Given the description of an element on the screen output the (x, y) to click on. 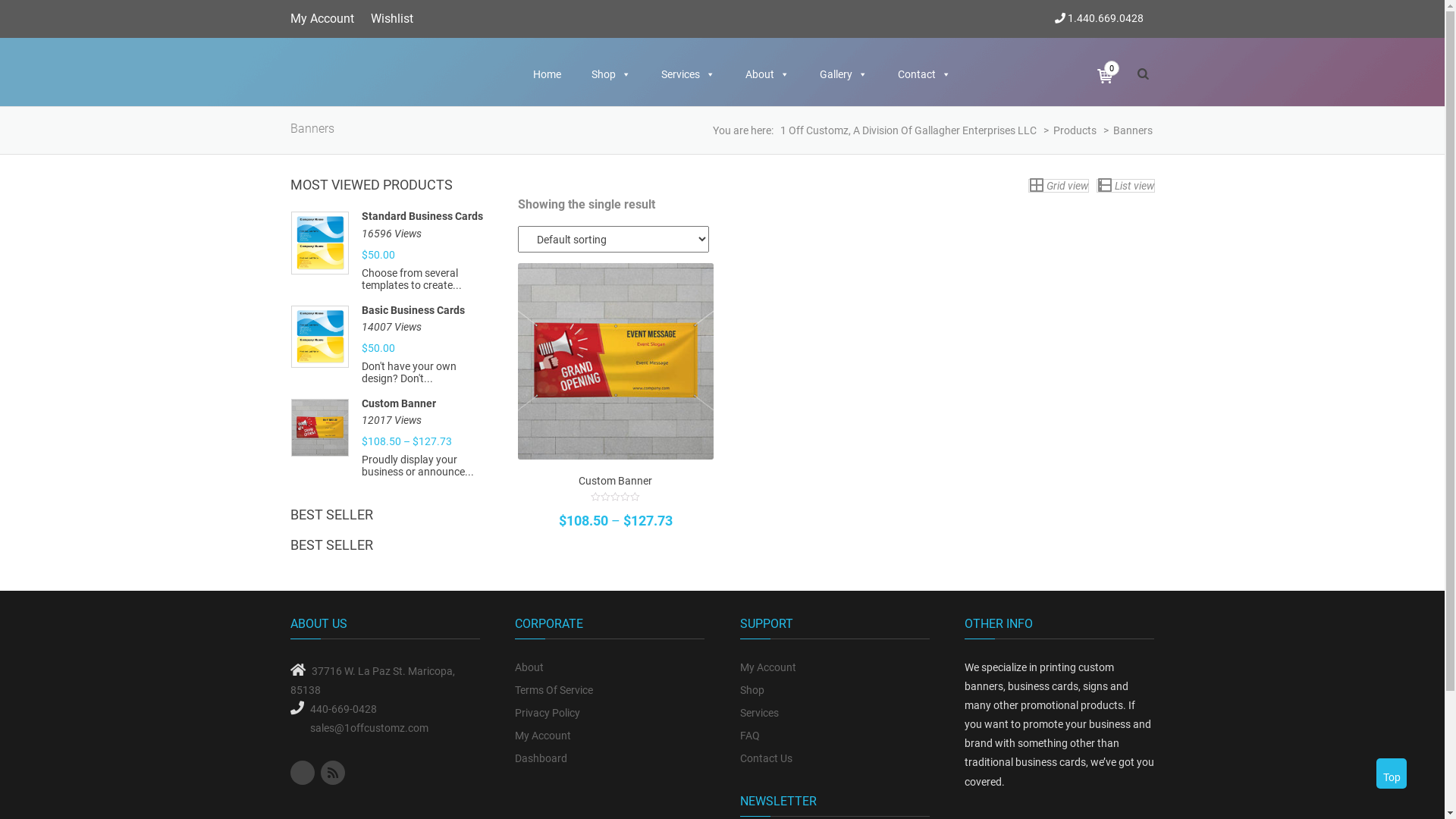
Services Element type: text (834, 712)
Shop Element type: text (834, 689)
Wishlist Element type: text (391, 18)
Search Element type: text (721, 262)
Contact Us Element type: text (834, 758)
Privacy Policy Element type: text (609, 712)
My Account Element type: text (609, 735)
Contact Element type: text (924, 74)
Shop Element type: text (611, 74)
Gallery Element type: text (842, 74)
1 Off Customz, a division of Gallagher Enterprises LLC RSS Element type: hover (332, 772)
Grid view Element type: text (1058, 185)
Standard Business Cards Element type: text (428, 216)
Terms Of Service Element type: text (609, 689)
Rated 0 out of 5 Element type: hover (614, 497)
Home Element type: text (546, 74)
Dashboard Element type: text (609, 758)
Basic Business Cards Element type: text (428, 310)
About Element type: text (609, 667)
My Account Element type: text (321, 18)
About Element type: text (766, 74)
Custom Banner Element type: text (428, 403)
Services Element type: text (688, 74)
My Account Element type: text (834, 667)
Products Element type: text (1075, 130)
List view Element type: text (1125, 185)
sales@1offcustomz.com Element type: text (368, 727)
1 Off Customz, A Division Of Gallagher Enterprises LLC Element type: text (908, 130)
FAQ Element type: text (834, 735)
